Given the description of an element on the screen output the (x, y) to click on. 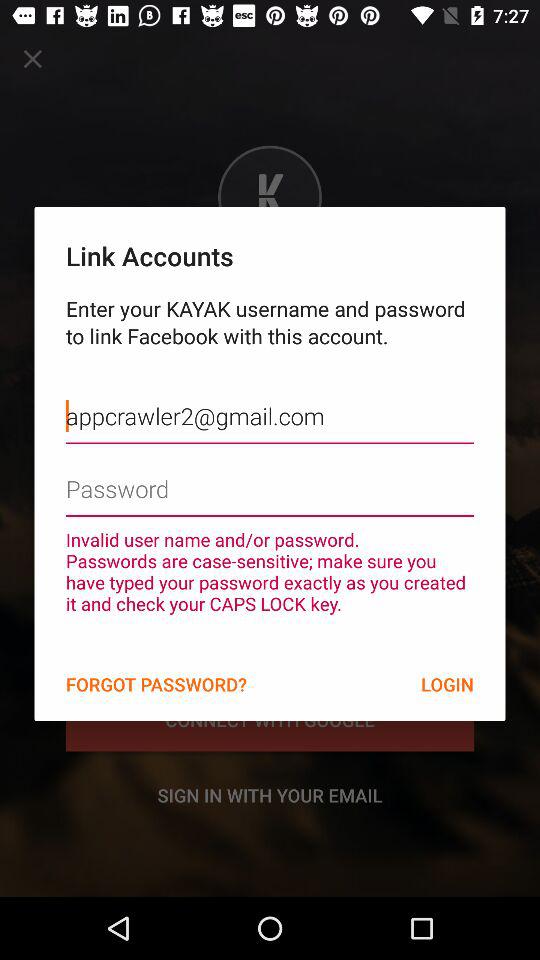
open the icon below the invalid user name item (447, 683)
